Given the description of an element on the screen output the (x, y) to click on. 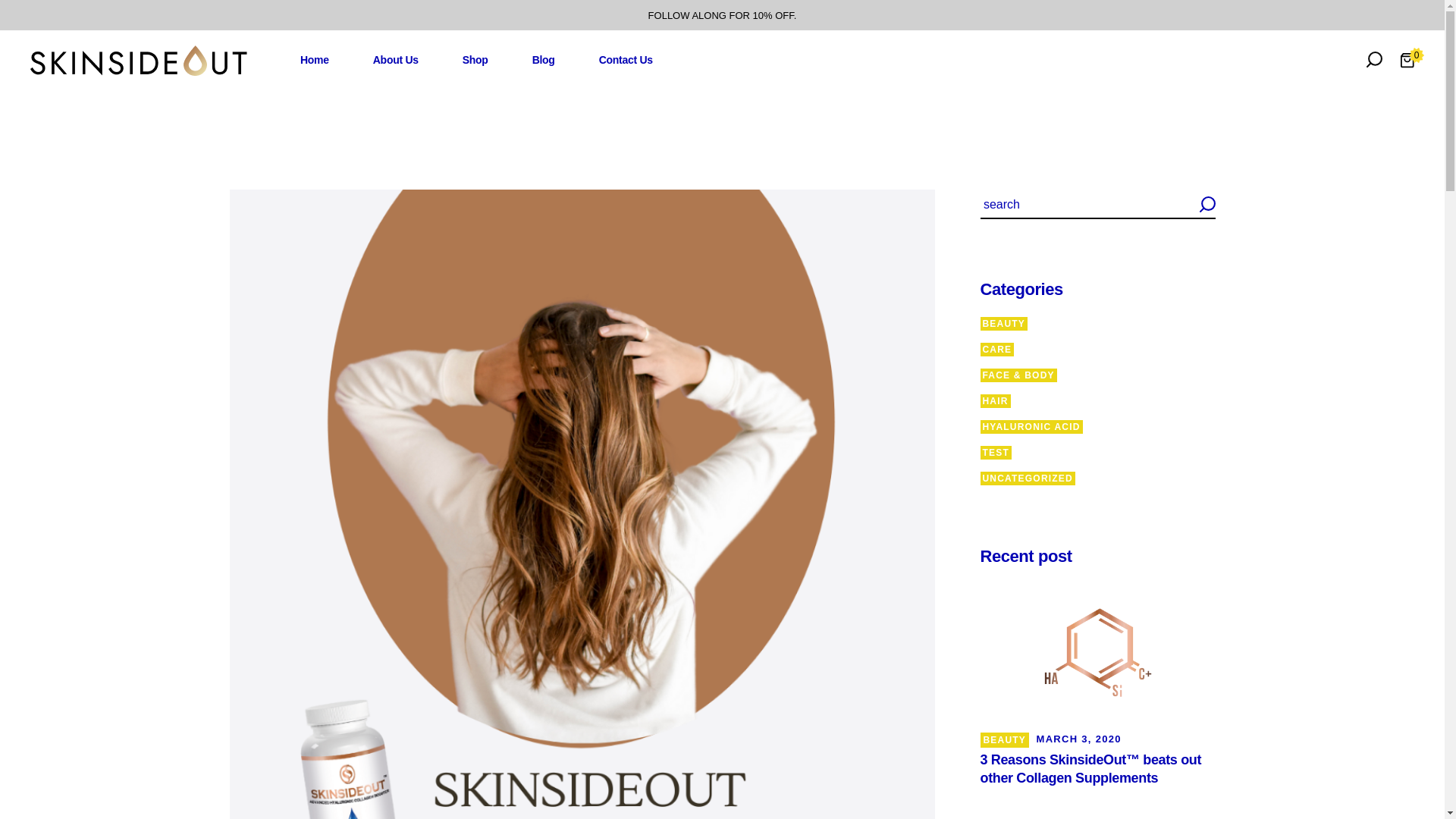
0 (1406, 60)
